Given the description of an element on the screen output the (x, y) to click on. 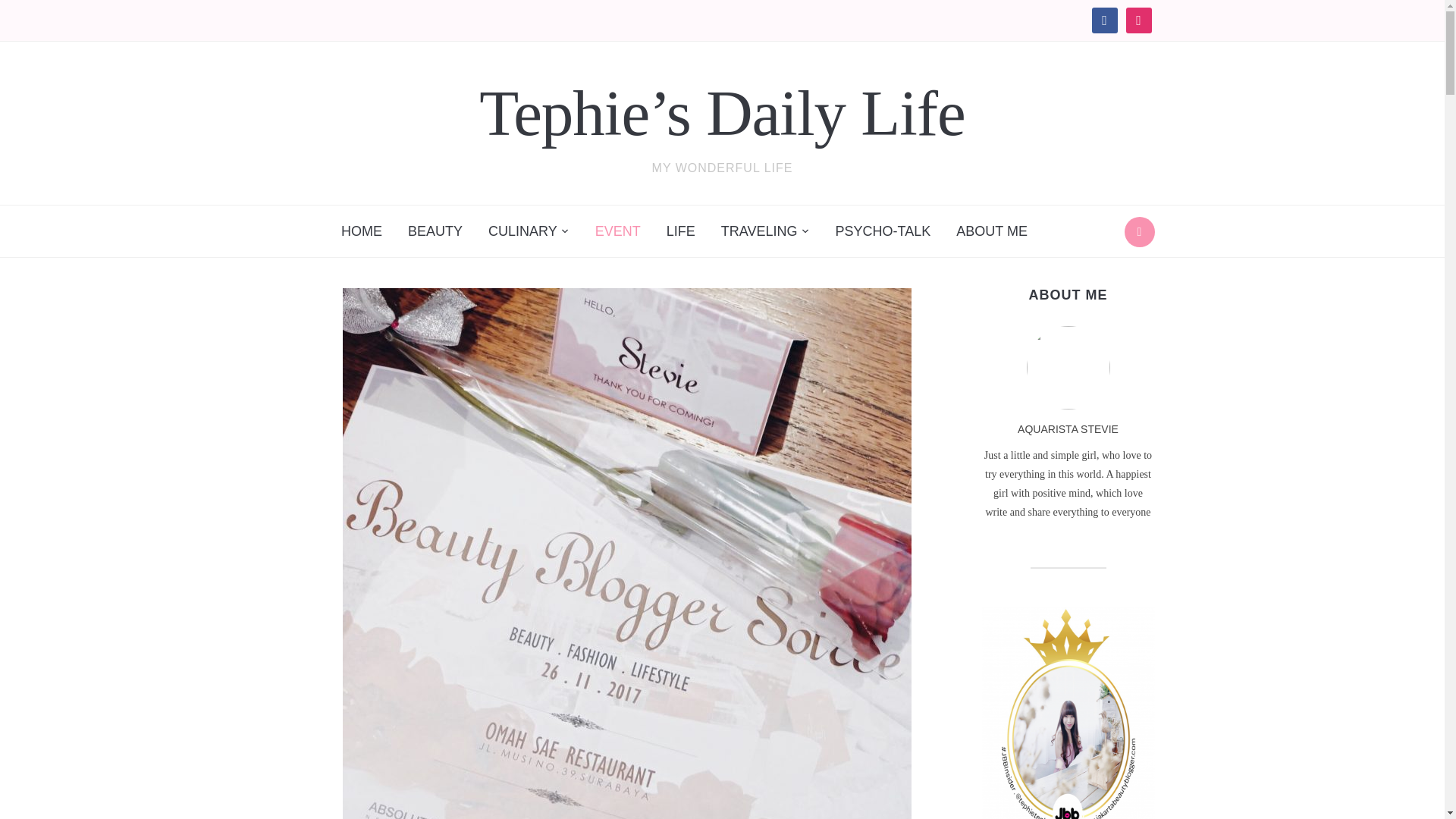
TRAVELING (765, 231)
HOME (361, 231)
instagram (1138, 19)
LIFE (680, 231)
EVENT (617, 231)
Friend me on Facebook (1105, 19)
PSYCHO-TALK (883, 231)
Search (1139, 232)
Instagram (1138, 19)
facebook (1105, 19)
ABOUT ME (991, 231)
BEAUTY (435, 231)
My Wonderful Life (722, 112)
CULINARY (528, 231)
